Given the description of an element on the screen output the (x, y) to click on. 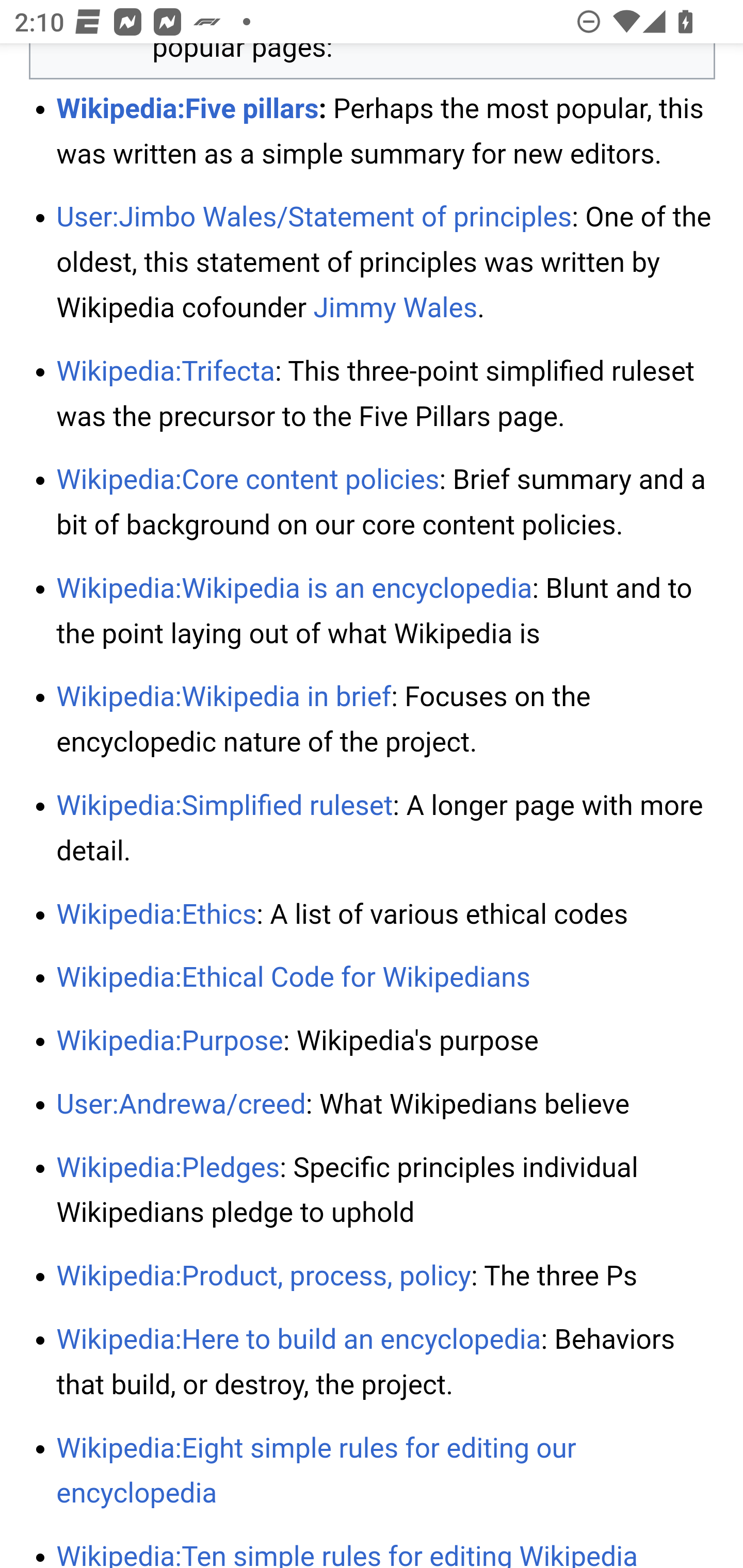
Wikipedia:Five pillars (187, 109)
User:Jimbo Wales/Statement of principles (313, 219)
Jimmy Wales (395, 309)
Wikipedia:Trifecta (165, 372)
Wikipedia:Core content policies (247, 481)
Wikipedia:Wikipedia is an encyclopedia (293, 589)
Wikipedia:Wikipedia in brief (223, 697)
Wikipedia:Simplified ruleset (224, 806)
Wikipedia:Ethics (156, 915)
Wikipedia:Ethical Code for Wikipedians (293, 979)
Wikipedia:Purpose (169, 1042)
User:Andrewa/creed (180, 1105)
Wikipedia:Pledges (168, 1168)
Wikipedia:Product, process, policy (263, 1276)
Wikipedia:Here to build an encyclopedia (298, 1340)
Wikipedia:Ten simple rules for editing Wikipedia (346, 1554)
